Given the description of an element on the screen output the (x, y) to click on. 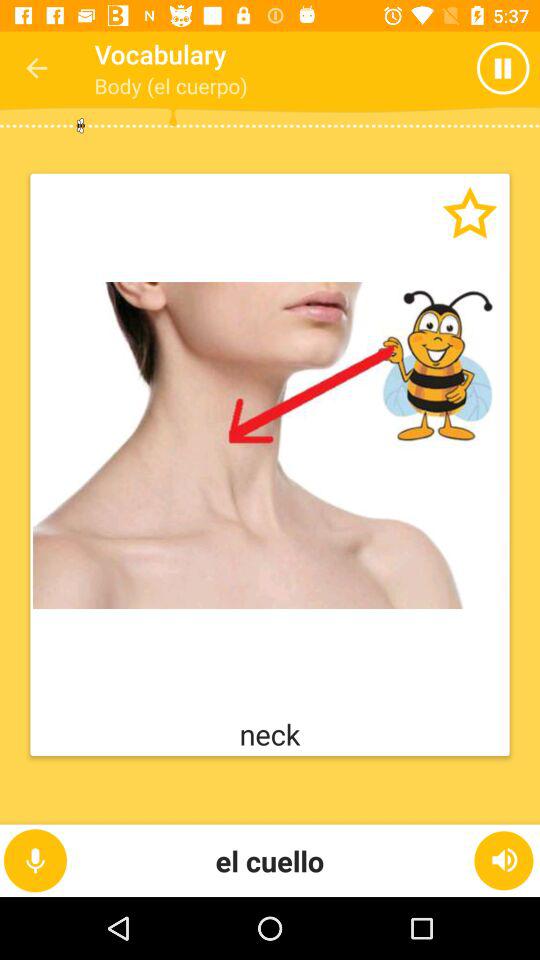
open item next to body (el cuerpo) (463, 67)
